Given the description of an element on the screen output the (x, y) to click on. 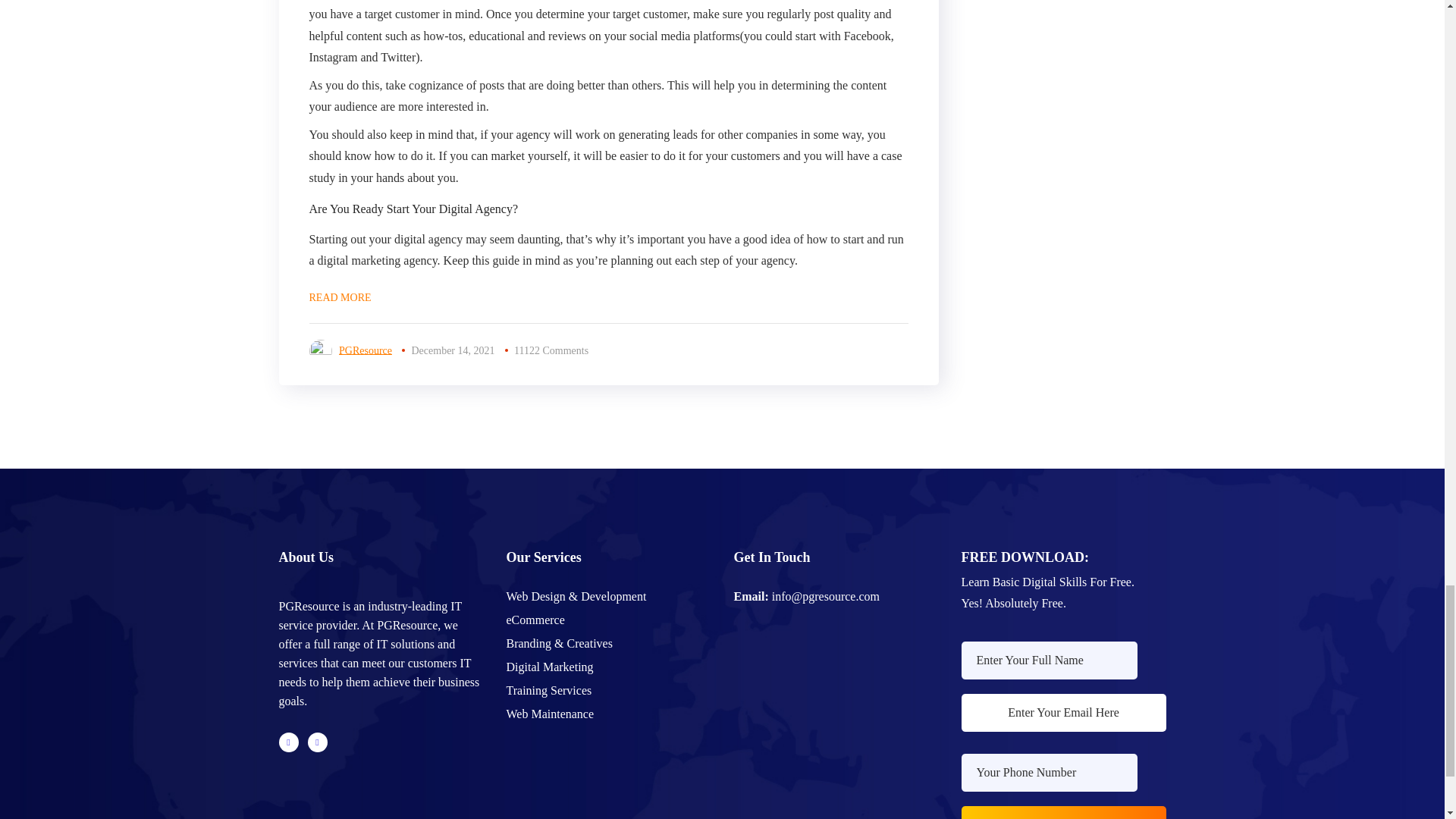
Instagram (317, 742)
Facebook (288, 742)
Register Now (1063, 812)
